Given the description of an element on the screen output the (x, y) to click on. 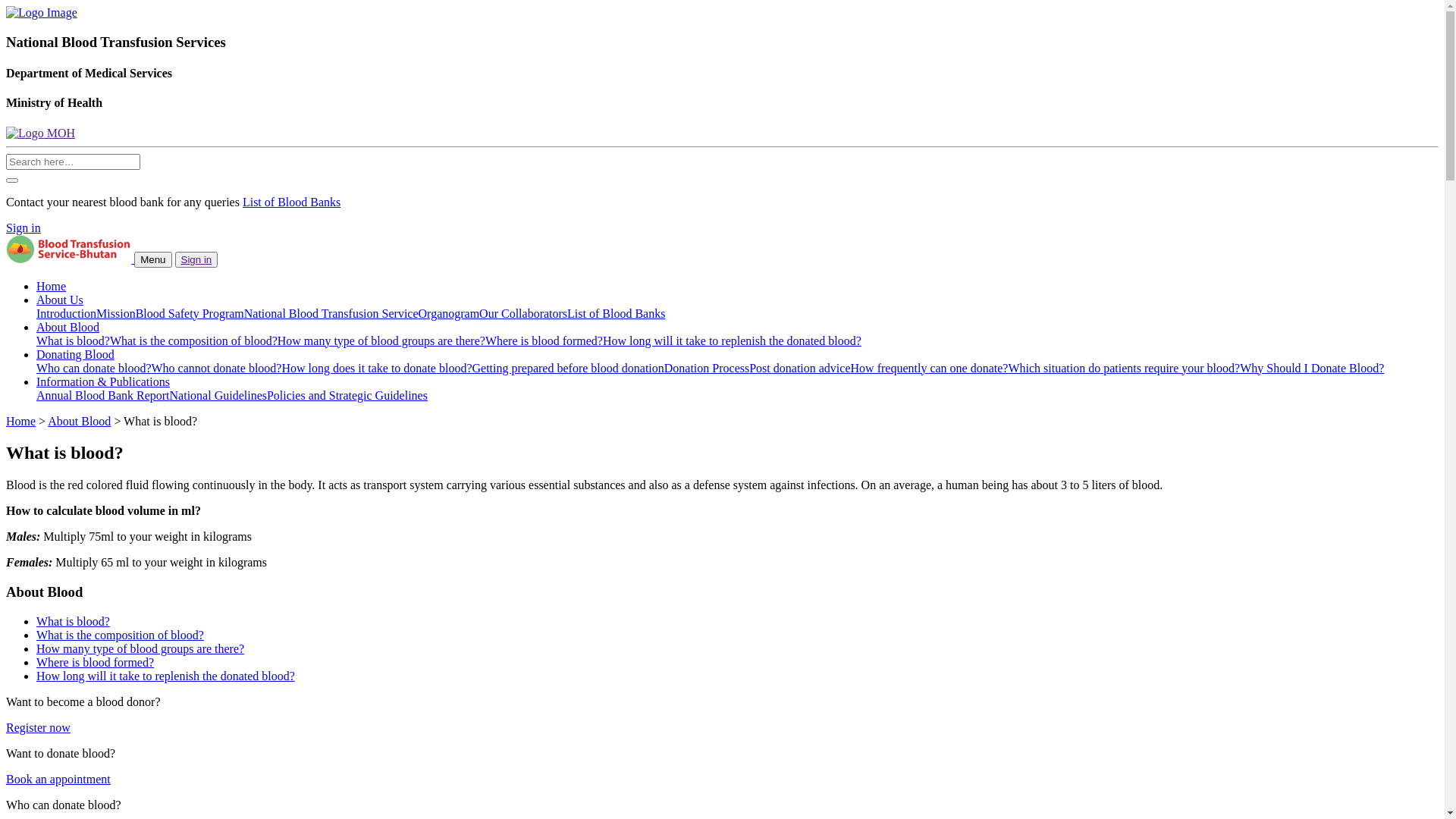
Donating Blood Element type: text (75, 354)
Home Element type: text (20, 420)
How long does it take to donate blood? Element type: text (376, 367)
Menu Element type: text (152, 259)
Introduction Element type: text (66, 313)
How many type of blood groups are there? Element type: text (381, 340)
Search for: Element type: hover (73, 161)
Blood Safety Program Element type: text (189, 313)
Annual Blood Bank Report Element type: text (102, 395)
Sign in Element type: text (23, 227)
Where is blood formed? Element type: text (94, 661)
Home Element type: text (50, 285)
About Us Element type: text (59, 299)
List of Blood Banks Element type: text (291, 201)
About Blood Element type: text (67, 326)
Who can donate blood? Element type: text (93, 367)
About Blood Element type: text (78, 420)
Register now Element type: text (38, 727)
Organogram Element type: text (449, 313)
How long will it take to replenish the donated blood? Element type: text (731, 340)
National Blood Transfusion Service Element type: text (331, 313)
Who cannot donate blood? Element type: text (216, 367)
Donation Process Element type: text (706, 367)
Policies and Strategic Guidelines Element type: text (346, 395)
List of Blood Banks Element type: text (616, 313)
National Guidelines Element type: text (217, 395)
Sign in Element type: text (196, 259)
What is blood? Element type: text (72, 340)
Why Should I Donate Blood? Element type: text (1311, 367)
How long will it take to replenish the donated blood? Element type: text (165, 675)
Getting prepared before blood donation Element type: text (568, 367)
What is the composition of blood? Element type: text (193, 340)
Mission Element type: text (115, 313)
Book an appointment Element type: text (58, 778)
How frequently can one donate? Element type: text (929, 367)
Sign in Element type: text (196, 259)
Where is blood formed? Element type: text (543, 340)
Information & Publications Element type: text (102, 381)
How many type of blood groups are there? Element type: text (140, 648)
Our Collaborators Element type: text (523, 313)
What is blood? Element type: text (72, 621)
What is the composition of blood? Element type: text (119, 634)
Which situation do patients require your blood? Element type: text (1123, 367)
Post donation advice Element type: text (799, 367)
